Given the description of an element on the screen output the (x, y) to click on. 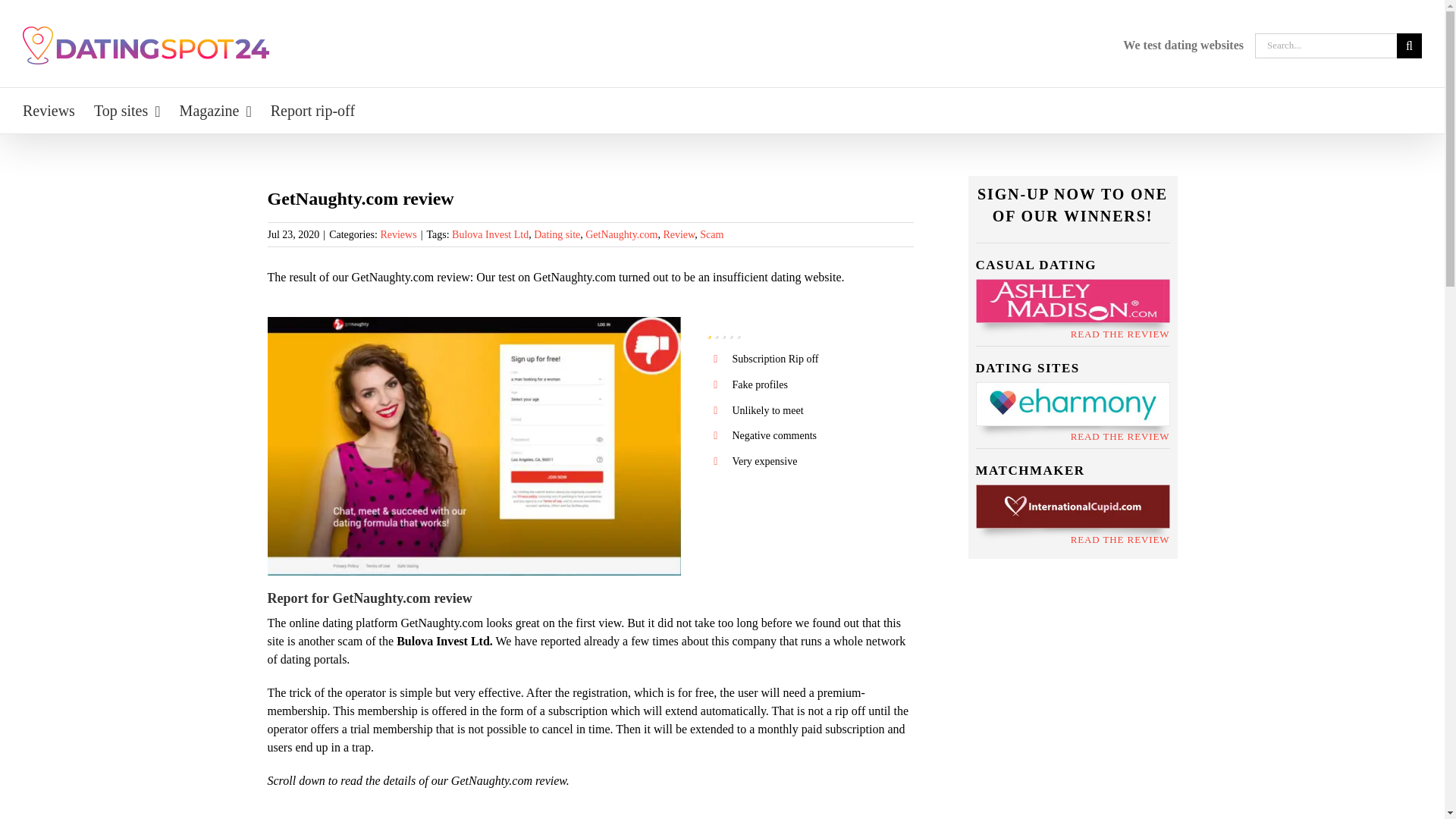
Top sites (127, 110)
Magazine (215, 110)
Reviews (49, 110)
GetNaughty.com review scam (472, 322)
Report rip-off (312, 110)
